Given the description of an element on the screen output the (x, y) to click on. 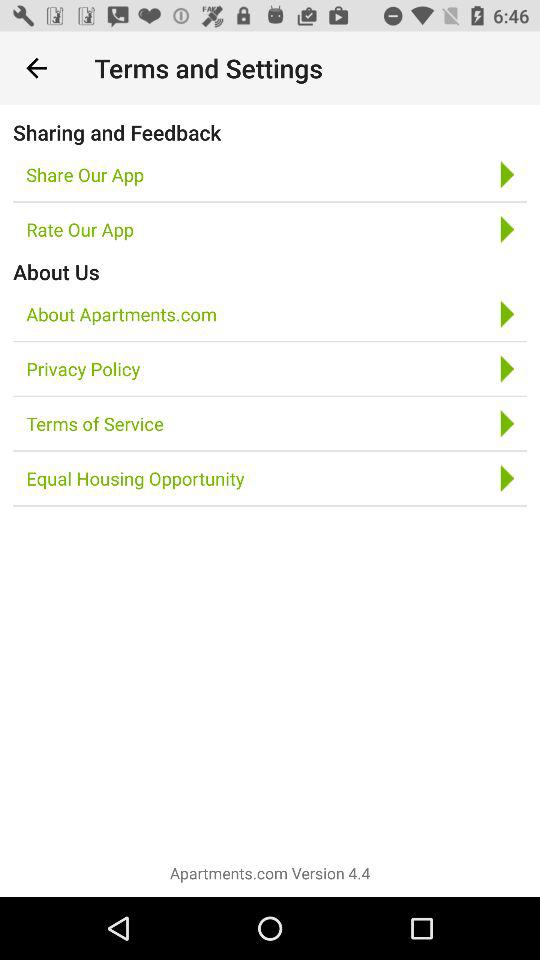
turn on icon below about apartments.com (83, 368)
